Given the description of an element on the screen output the (x, y) to click on. 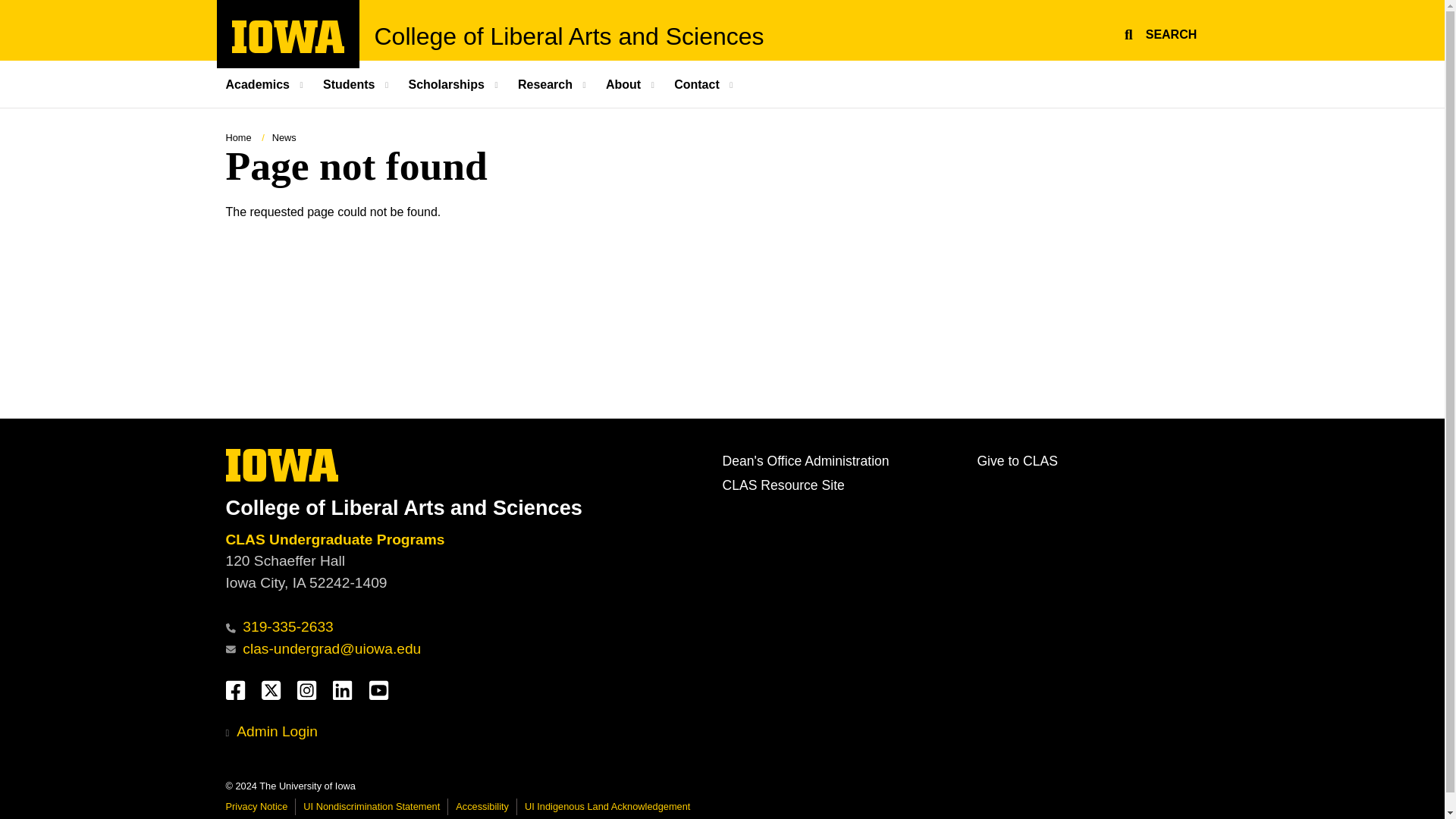
College of Liberal Arts and Sciences (569, 36)
Skip to main content (288, 48)
University of Iowa (7, 7)
Academics (282, 464)
SEARCH (266, 83)
CLAS Undergraduate Programs Office (1157, 32)
Contact CLAS Dean's Office (336, 539)
Resources for faculty and staff (805, 460)
University of Iowa (783, 485)
